Given the description of an element on the screen output the (x, y) to click on. 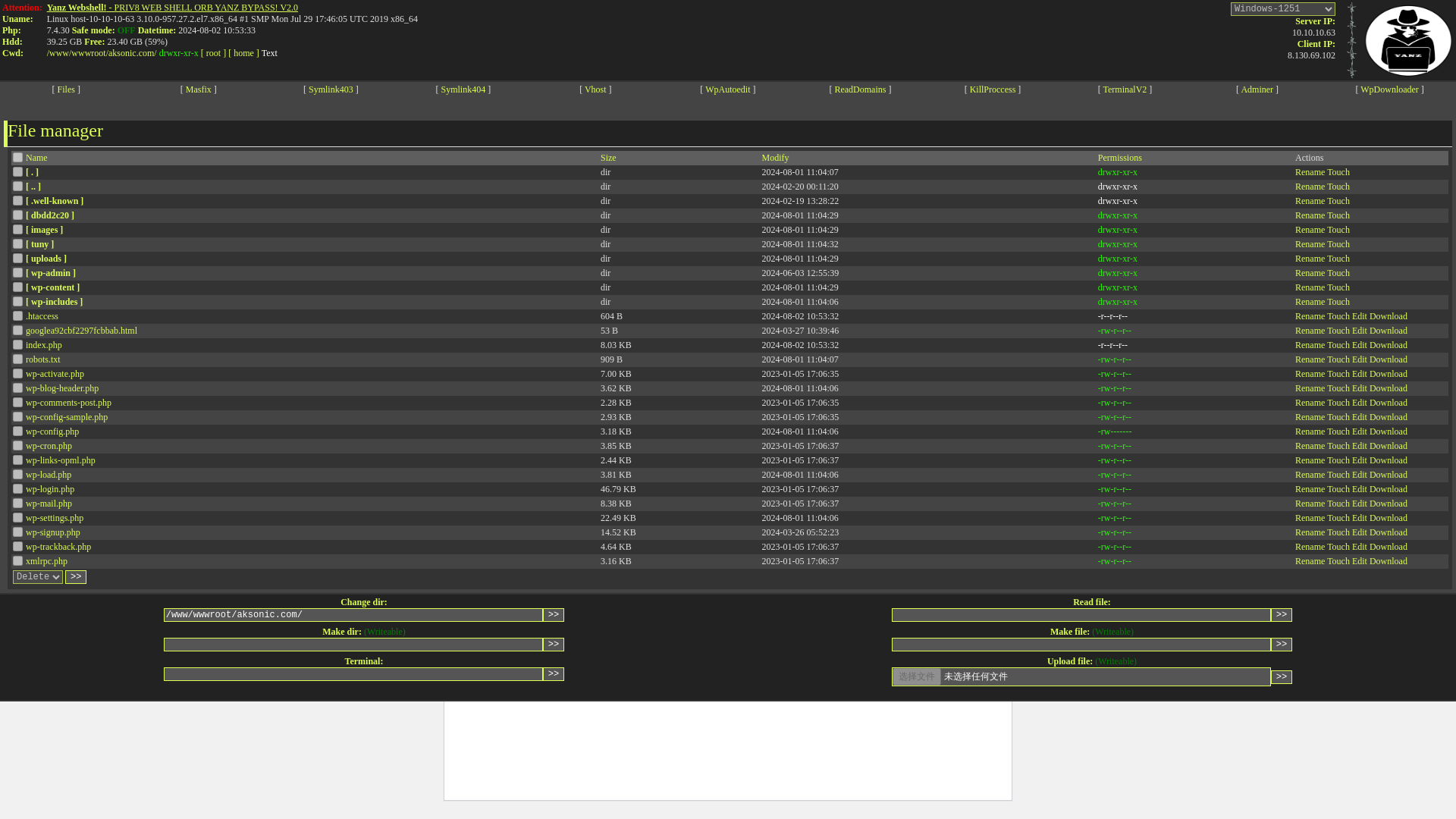
Permissions (1119, 157)
drwxr-xr-x (1117, 214)
jc-pbzzragf-cbfg.cuc (18, 402)
ebobgf.gkg (18, 358)
on (18, 157)
Text (270, 52)
ReadDomains (859, 89)
Rename (1309, 200)
Name (37, 157)
WpAutoedit (726, 89)
YanzWSO (1407, 39)
Touch (1337, 200)
Modify (775, 157)
vzntrf (18, 229)
Touch (1337, 214)
